Given the description of an element on the screen output the (x, y) to click on. 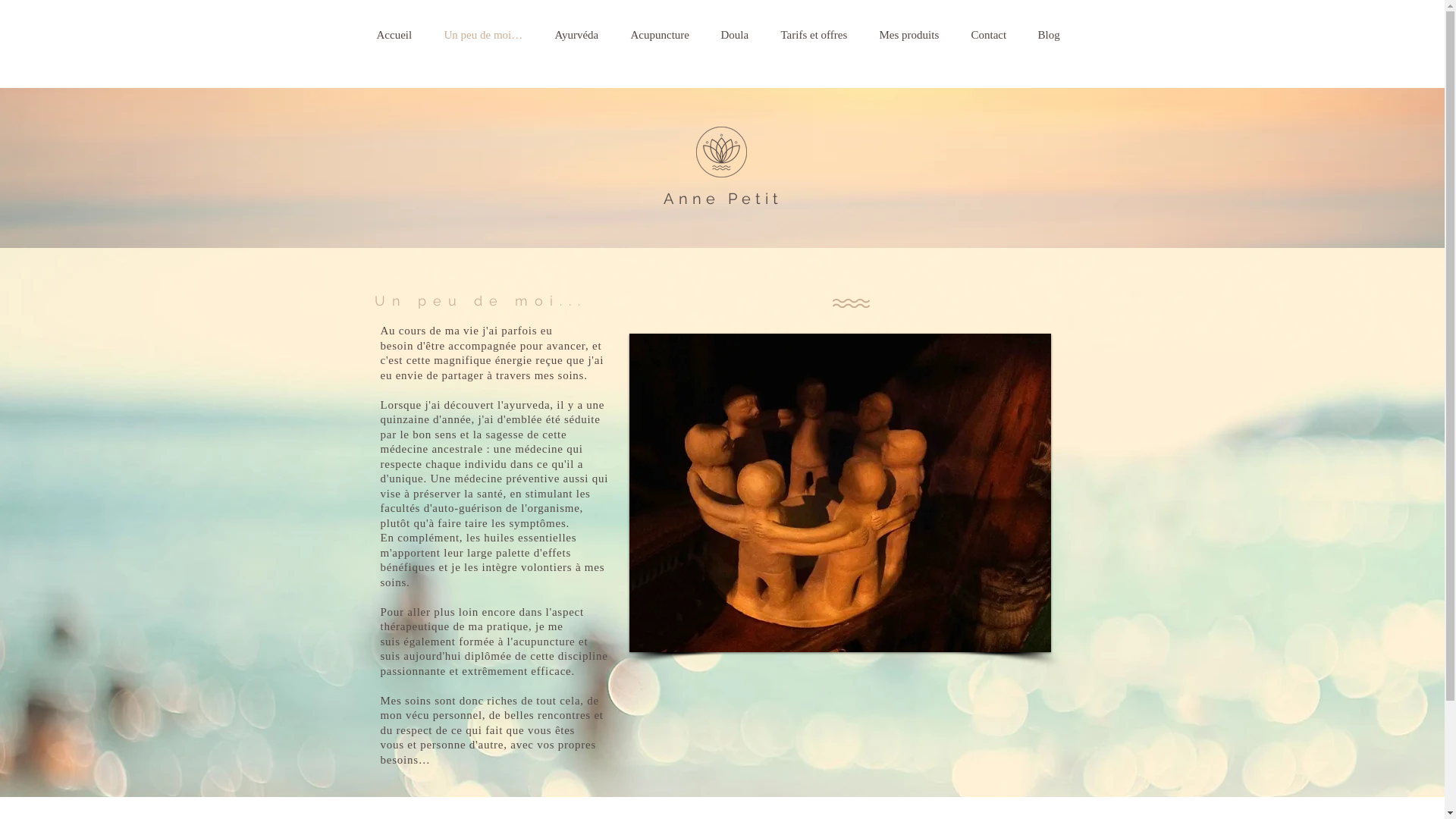
Accueil Element type: text (402, 35)
Blog Element type: text (1055, 35)
Contact Element type: text (996, 35)
Mes produits Element type: text (917, 35)
Acupuncture Element type: text (668, 35)
Tarifs et offres Element type: text (822, 35)
Doula Element type: text (742, 35)
